Given the description of an element on the screen output the (x, y) to click on. 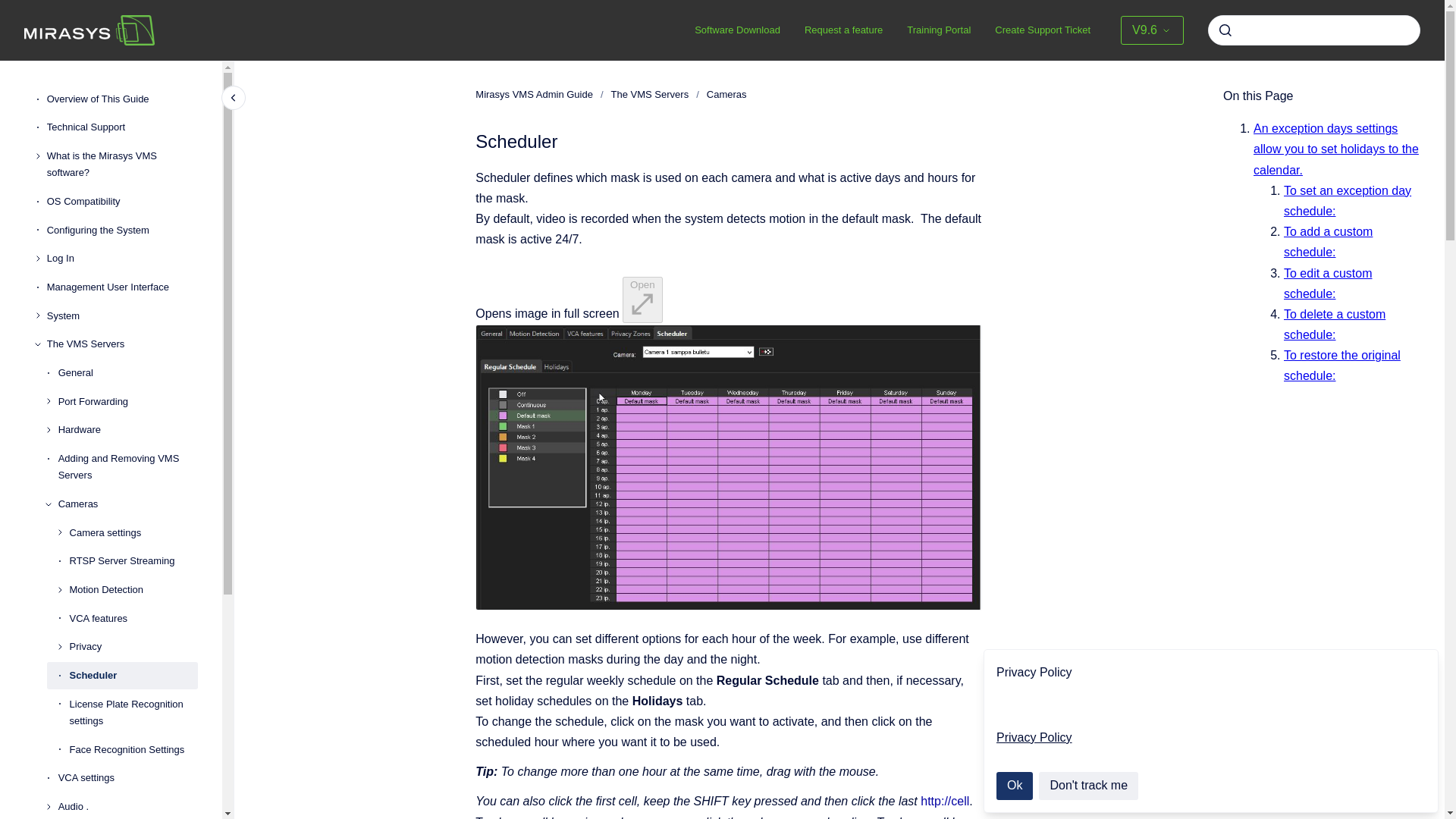
Privacy Policy (1033, 737)
Hardware (128, 430)
VCA features (133, 618)
Log In (122, 258)
Camera settings (133, 533)
Ok (1013, 786)
The VMS Servers (122, 344)
RTSP Server Streaming (133, 560)
Software Download (737, 29)
Adding and Removing VMS Servers (128, 466)
